Given the description of an element on the screen output the (x, y) to click on. 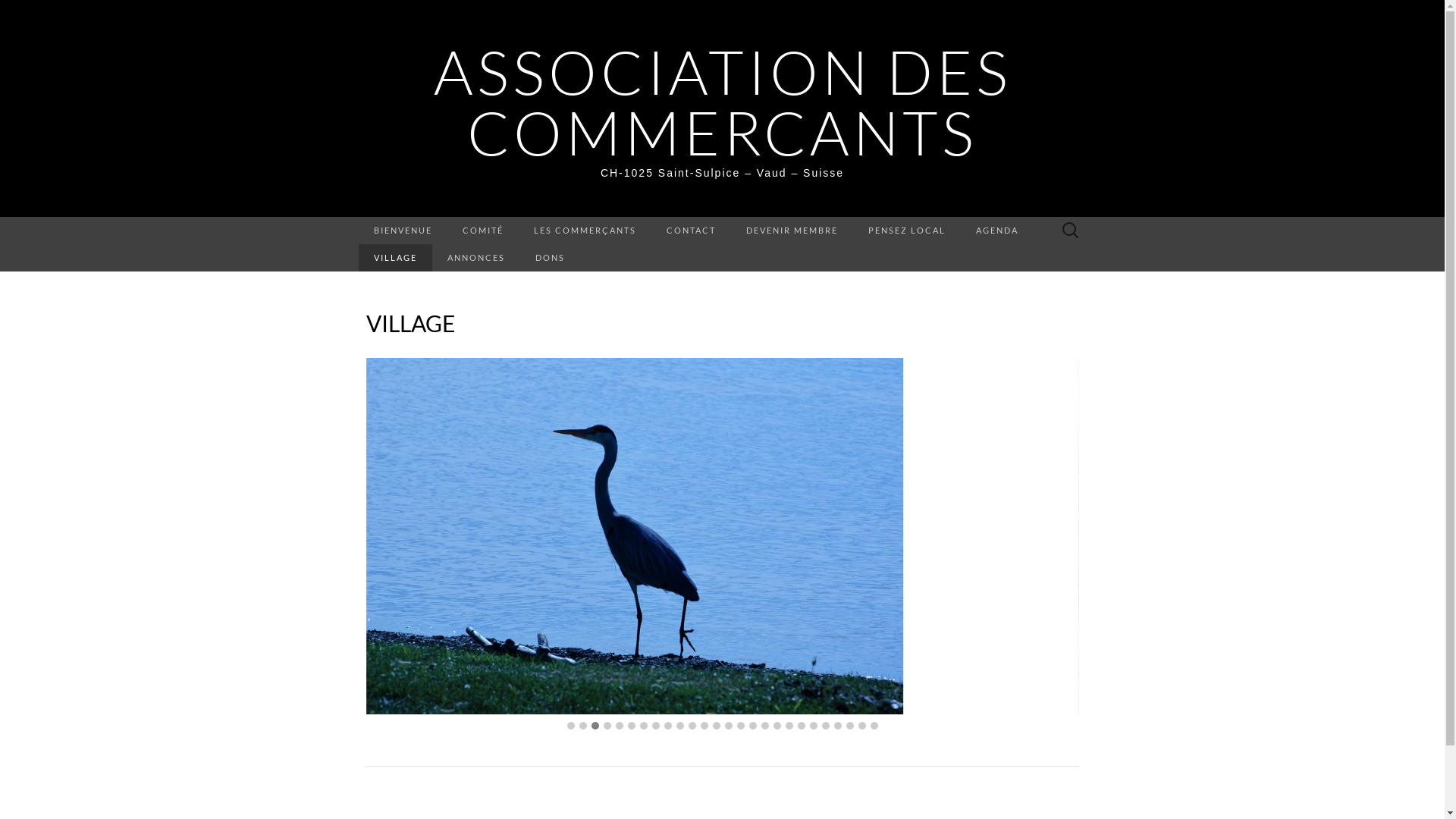
PENSEZ LOCAL Element type: text (906, 230)
CONTACT Element type: text (690, 230)
ASSOCIATION DES COMMERCANTS Element type: text (722, 101)
Rechercher Element type: text (15, 12)
DEVENIR MEMBRE Element type: text (792, 230)
ANNONCES Element type: text (476, 257)
BIENVENUE Element type: text (401, 230)
VILLAGE Element type: text (394, 257)
DONS Element type: text (550, 257)
AGENDA Element type: text (996, 230)
